Given the description of an element on the screen output the (x, y) to click on. 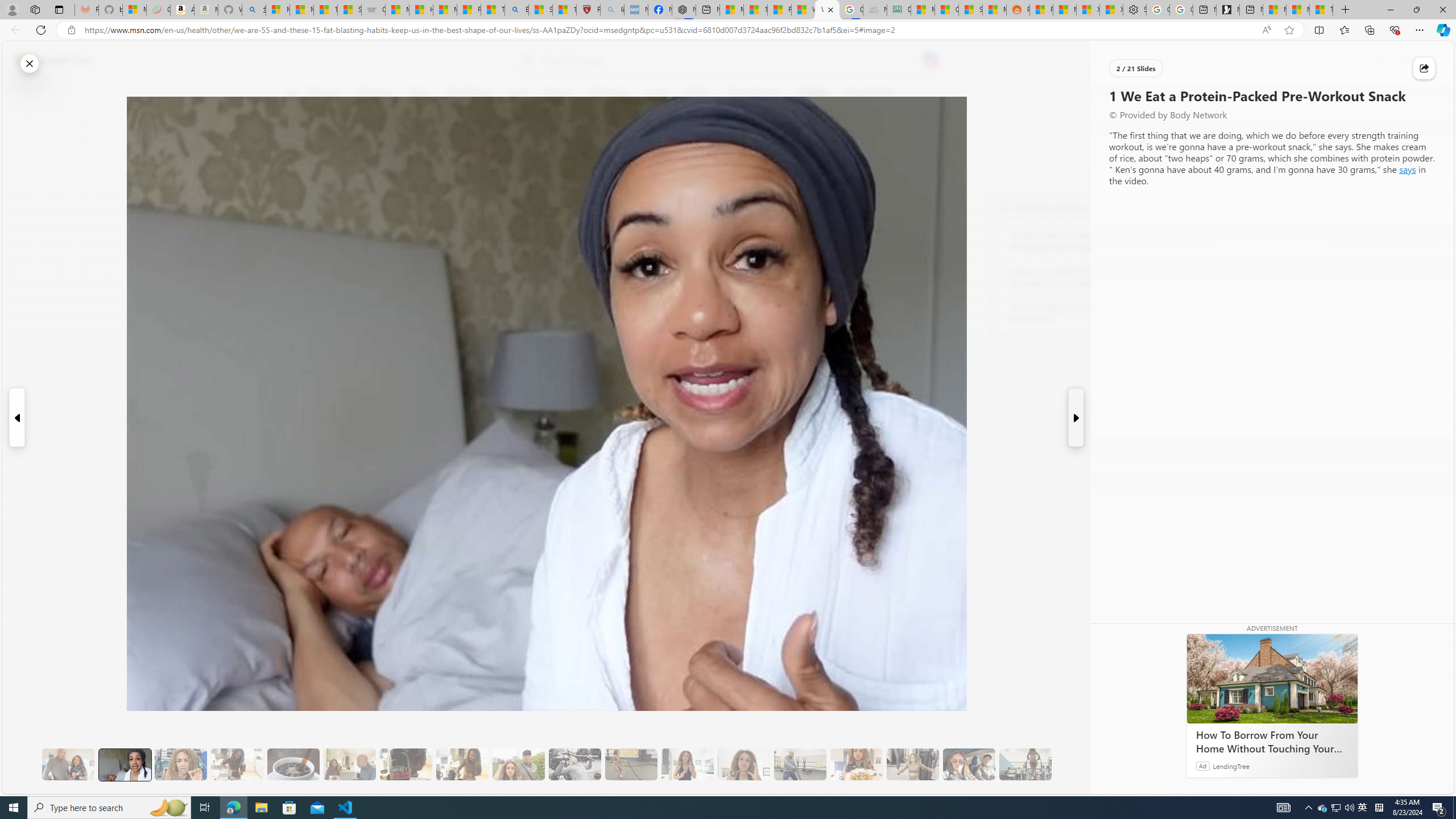
Entertainment (753, 92)
8 They Walk to the Gym (518, 764)
Class: at-item (299, 266)
Technology (609, 92)
How To Borrow From Your Home Without Touching Your Mortgage (1271, 678)
16 The Couple's Program Helps with Accountability (968, 764)
Follow (518, 146)
6 Like (299, 138)
Enter your search term (730, 59)
6 Since Eating More Protein Her Training Has Improved (406, 764)
